Given the description of an element on the screen output the (x, y) to click on. 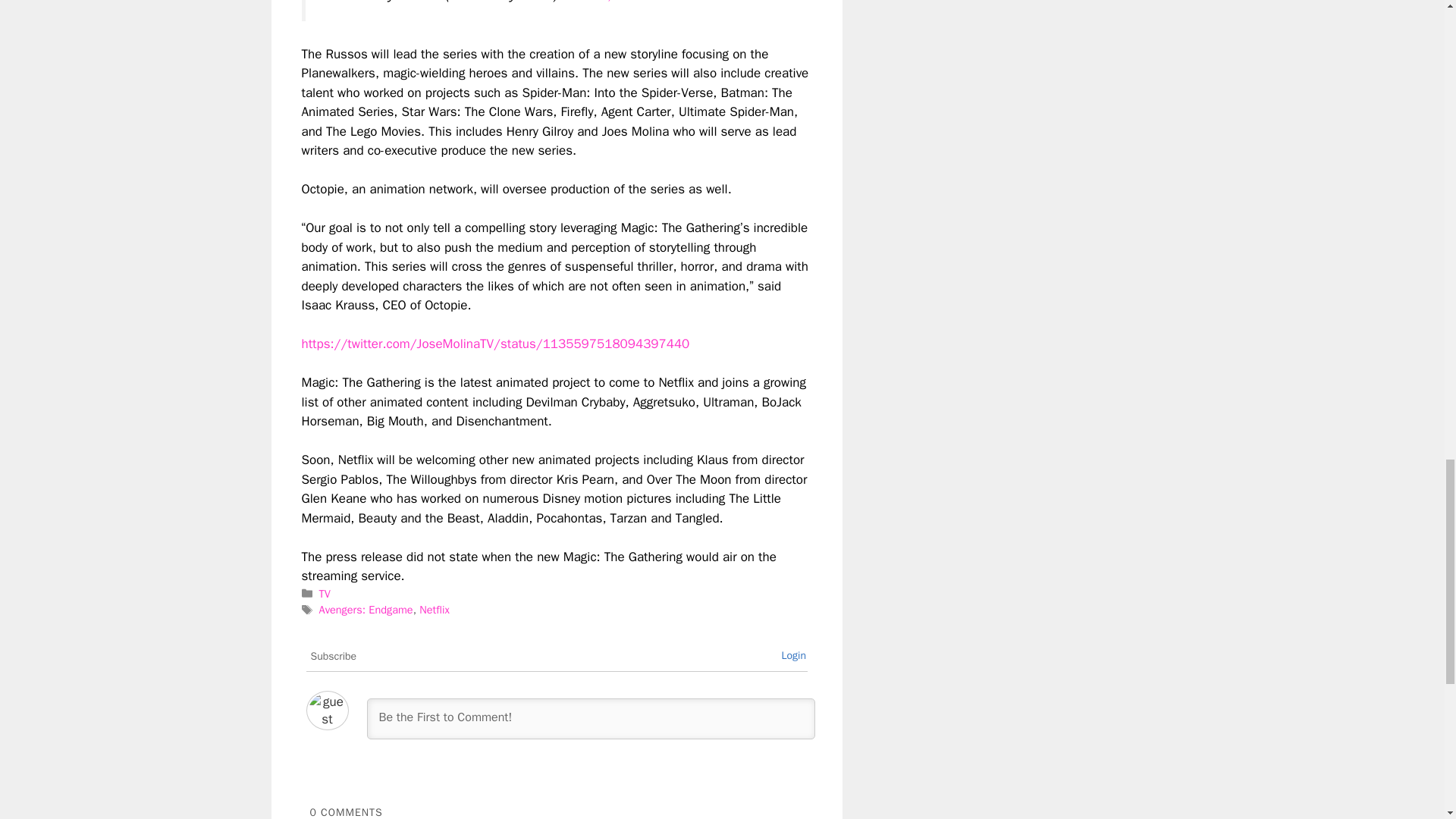
Netflix (434, 609)
Login (793, 655)
Avengers: Endgame (365, 609)
June 4, 2019 (607, 2)
